Given the description of an element on the screen output the (x, y) to click on. 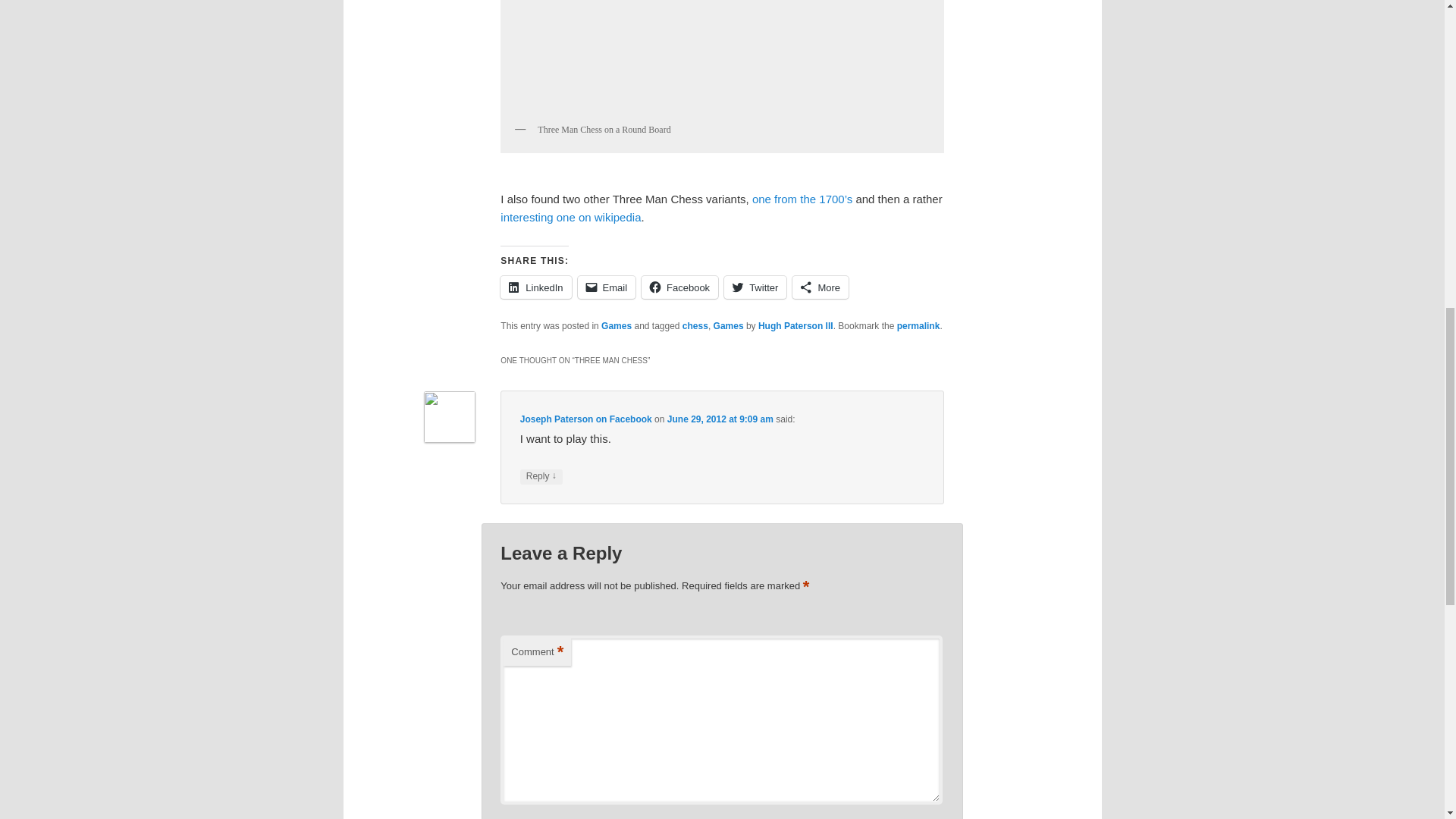
Email (607, 287)
Three Man Chess (721, 57)
Click to share on LinkedIn (535, 287)
Click to share on Facebook (679, 287)
Three man Chess on Wikipedia. (570, 216)
Twitter (754, 287)
interesting one on wikipedia (570, 216)
Facebook (679, 287)
Three Man Chess from the 1700's (801, 198)
More (820, 287)
